Given the description of an element on the screen output the (x, y) to click on. 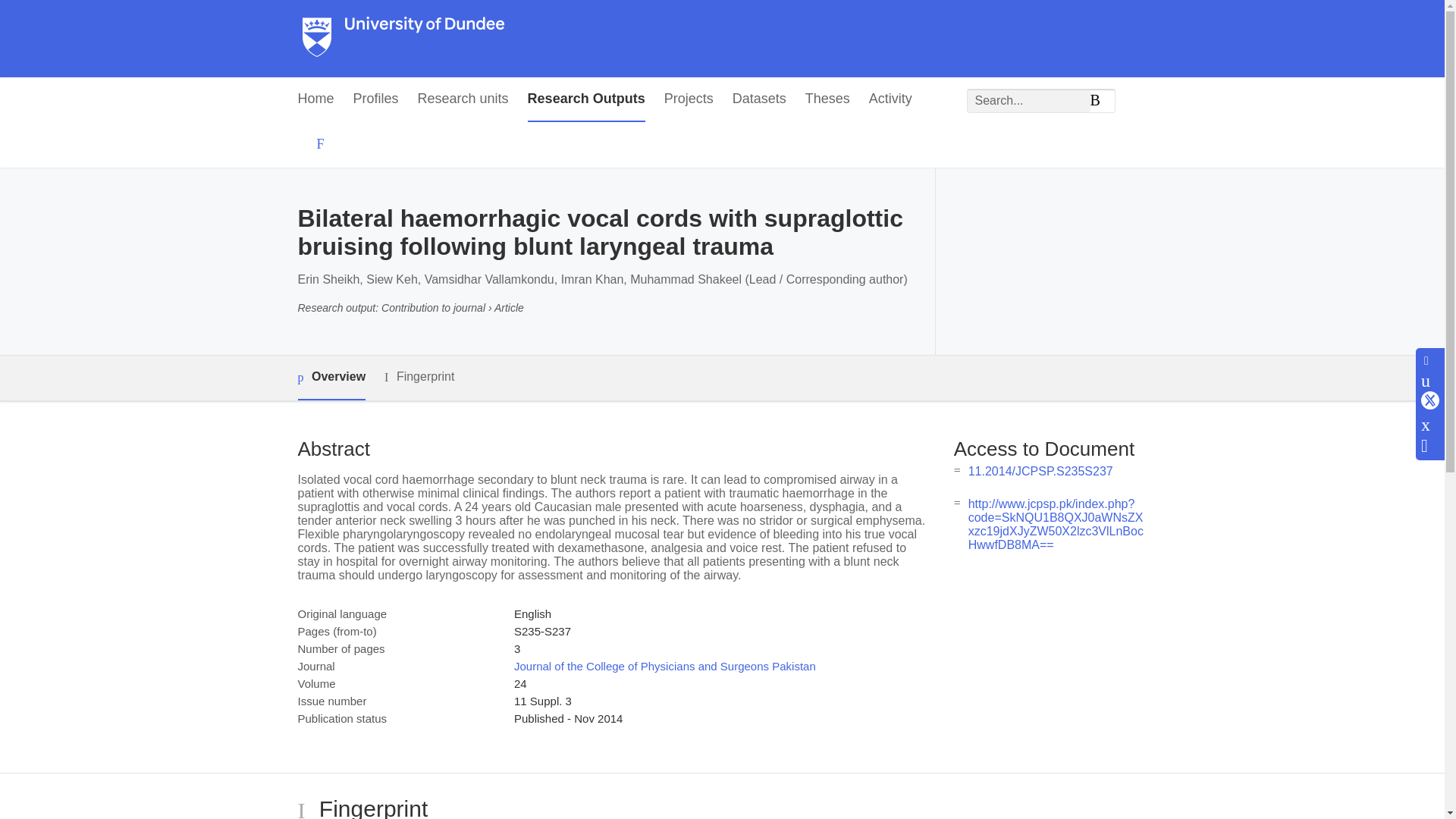
Datasets (759, 99)
Overview (331, 377)
Theses (827, 99)
Projects (688, 99)
Fingerprint (419, 376)
Journal of the College of Physicians and Surgeons Pakistan (664, 666)
Activity (890, 99)
Discovery - the University of Dundee Research Portal Home (404, 38)
Profiles (375, 99)
Research units (462, 99)
Research Outputs (586, 99)
